Given the description of an element on the screen output the (x, y) to click on. 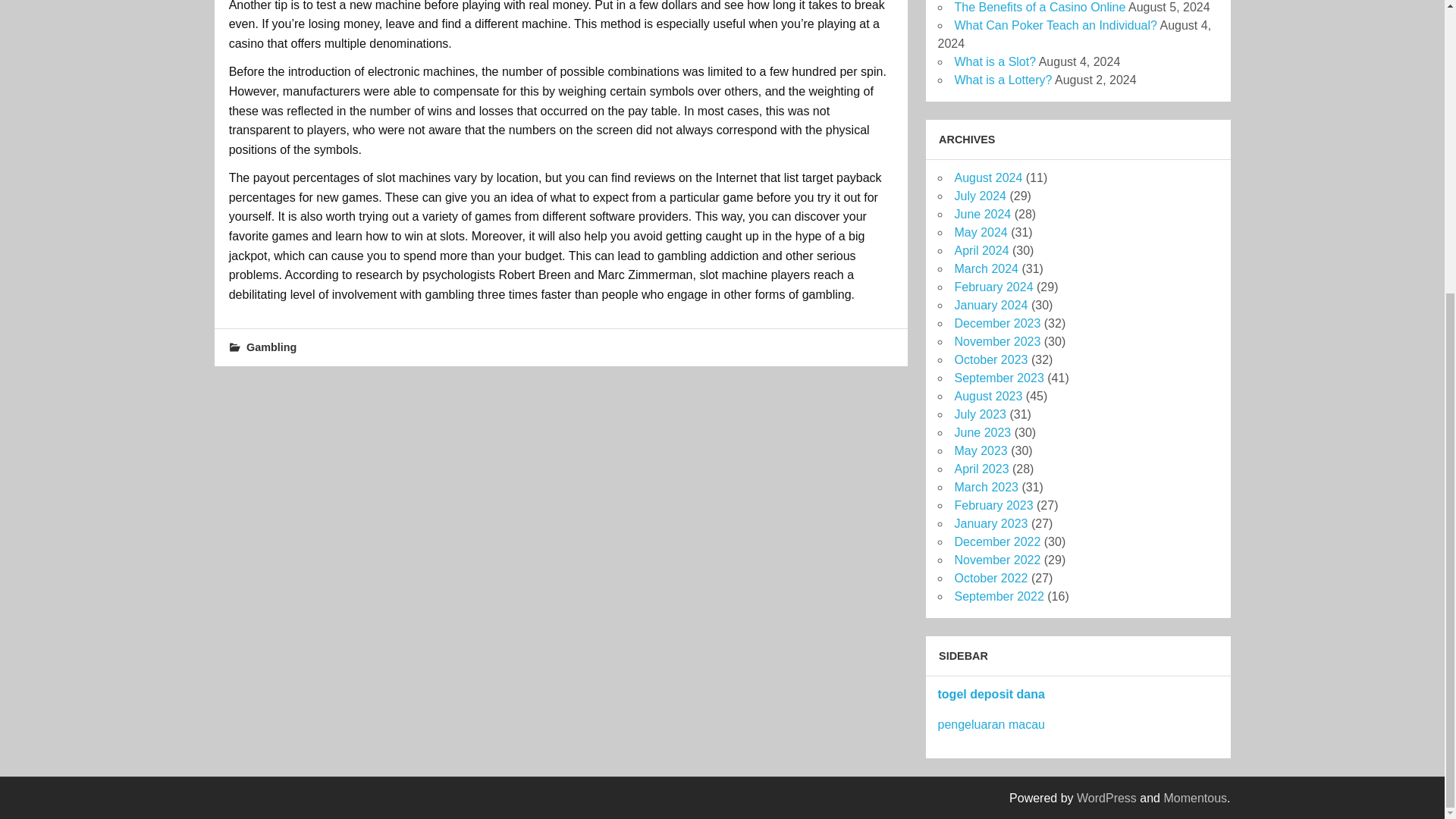
September 2023 (998, 377)
June 2023 (981, 431)
July 2024 (979, 195)
August 2024 (987, 177)
August 2023 (987, 395)
July 2023 (979, 413)
WordPress (1107, 797)
The Benefits of a Casino Online (1039, 6)
What is a Slot? (994, 61)
November 2023 (997, 341)
